Given the description of an element on the screen output the (x, y) to click on. 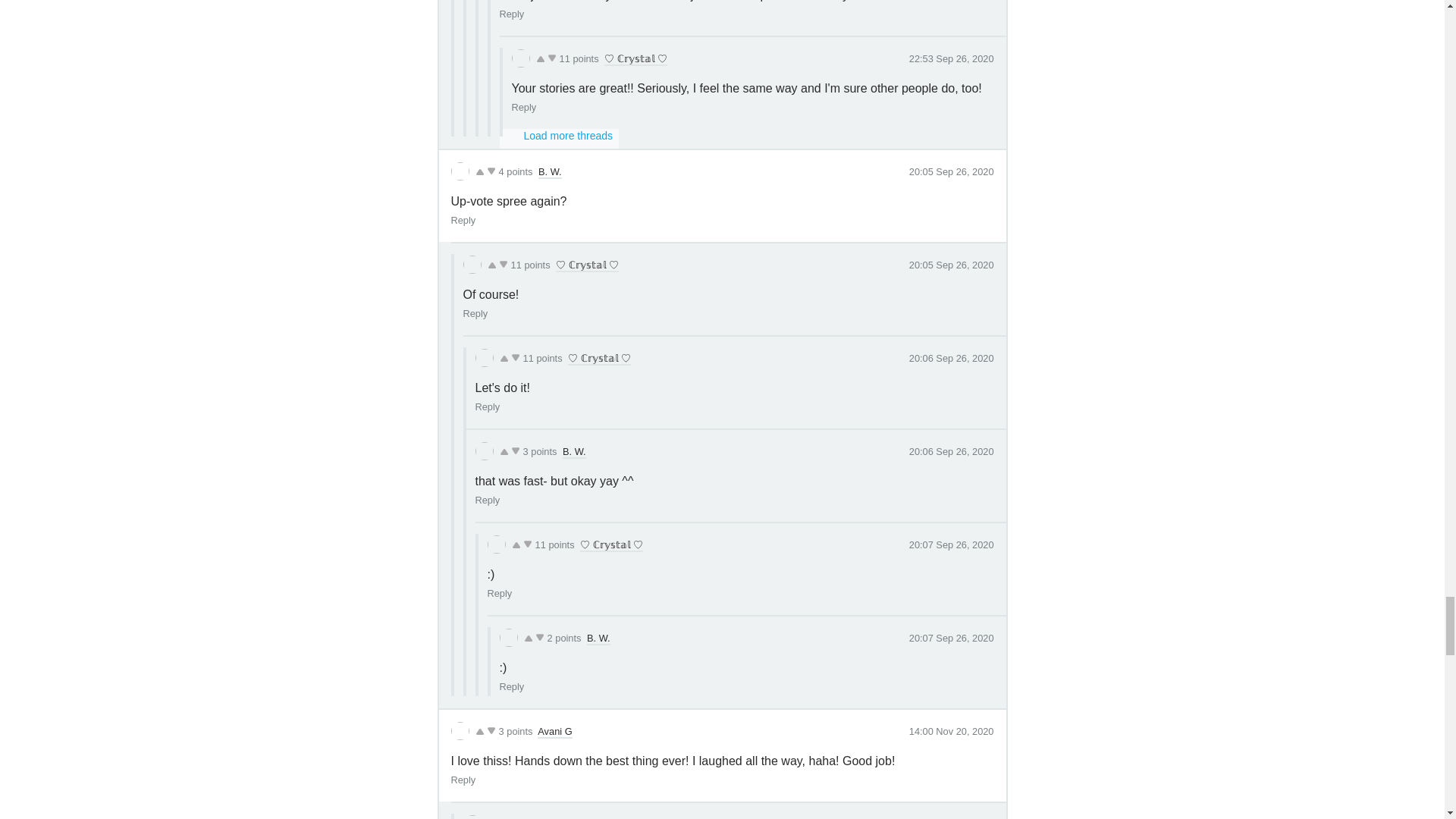
Load more threads (558, 138)
